Given the description of an element on the screen output the (x, y) to click on. 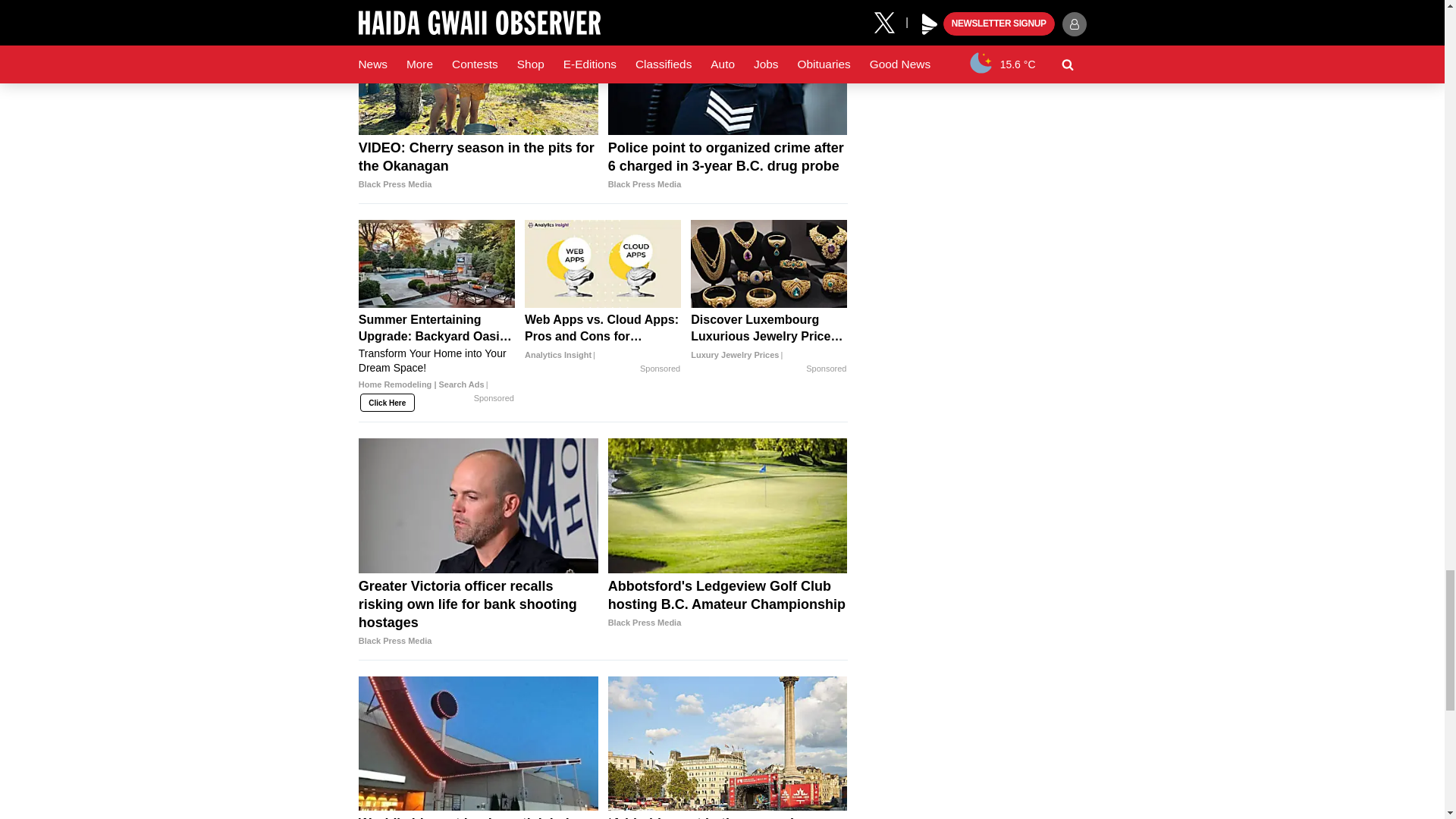
VIDEO: Cherry season in the pits for the Okanagan (478, 67)
VIDEO: Cherry season in the pits for the Okanagan (478, 165)
